Given the description of an element on the screen output the (x, y) to click on. 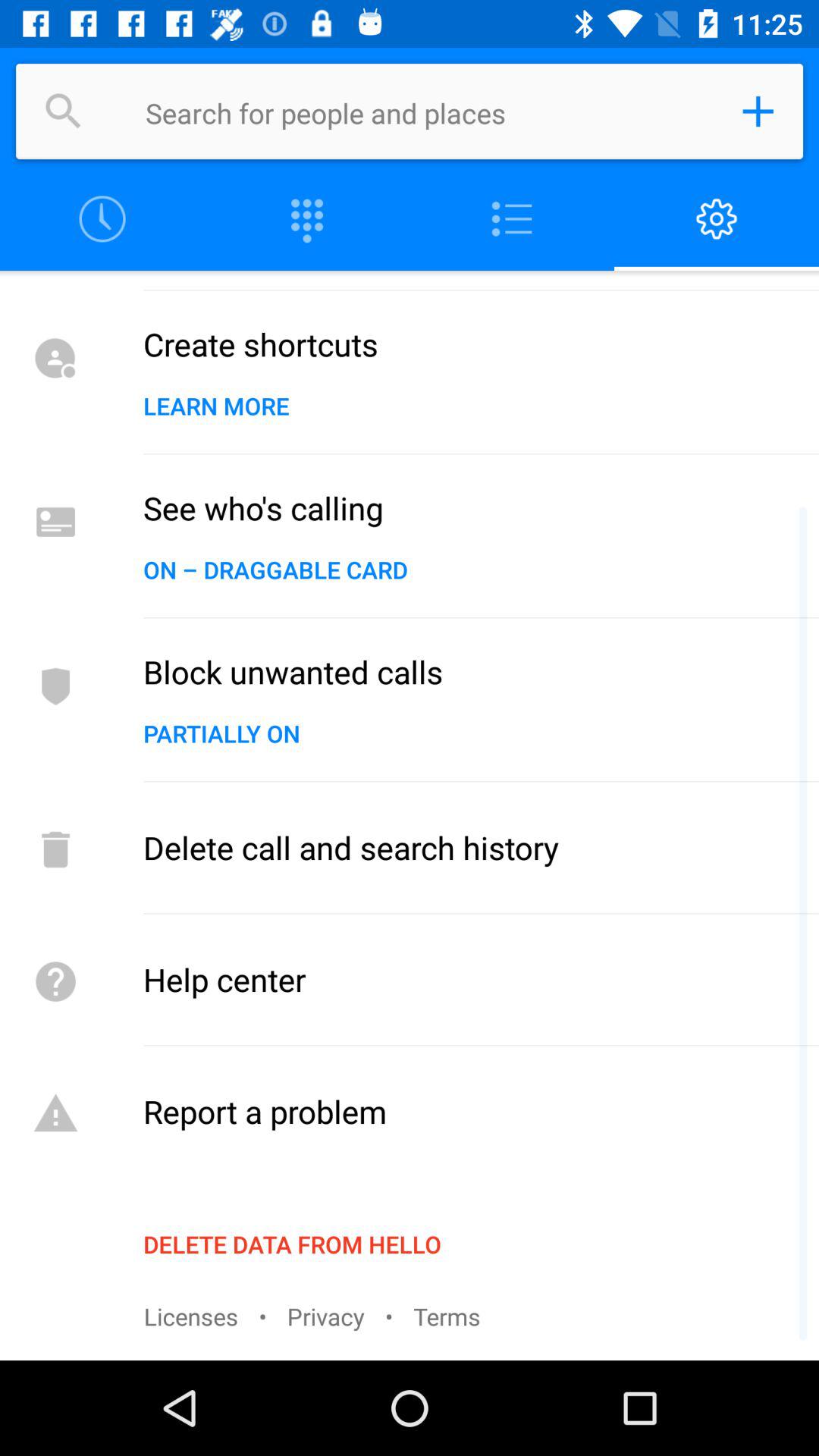
flip until the licenses icon (190, 1316)
